Given the description of an element on the screen output the (x, y) to click on. 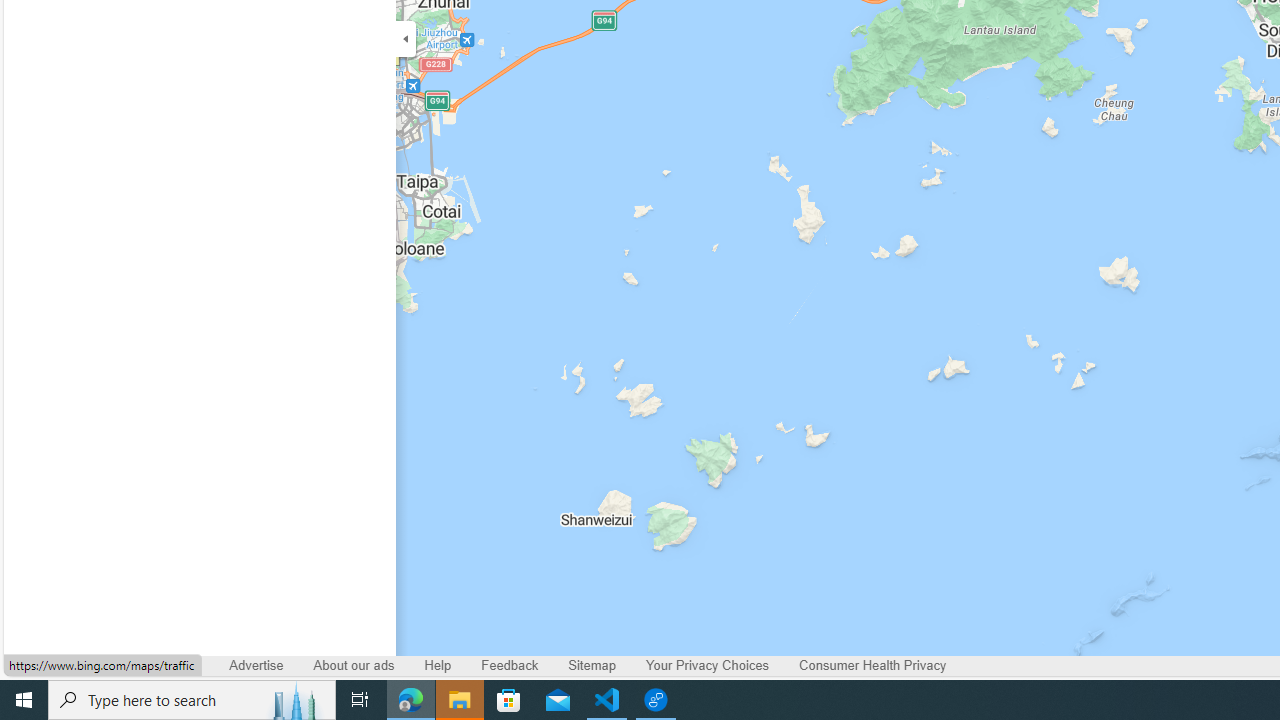
Help (437, 665)
Consumer Health Privacy (872, 665)
Help (438, 665)
Advertise (256, 665)
Privacy and Cookies (78, 665)
Expand/Collapse Cards (405, 38)
Feedback (509, 665)
Your Privacy Choices (707, 665)
About our ads (354, 665)
Feedback (509, 665)
About our ads (353, 665)
Consumer Health Privacy (872, 665)
Privacy and Cookies (78, 665)
Legal (183, 665)
Sitemap (592, 665)
